Given the description of an element on the screen output the (x, y) to click on. 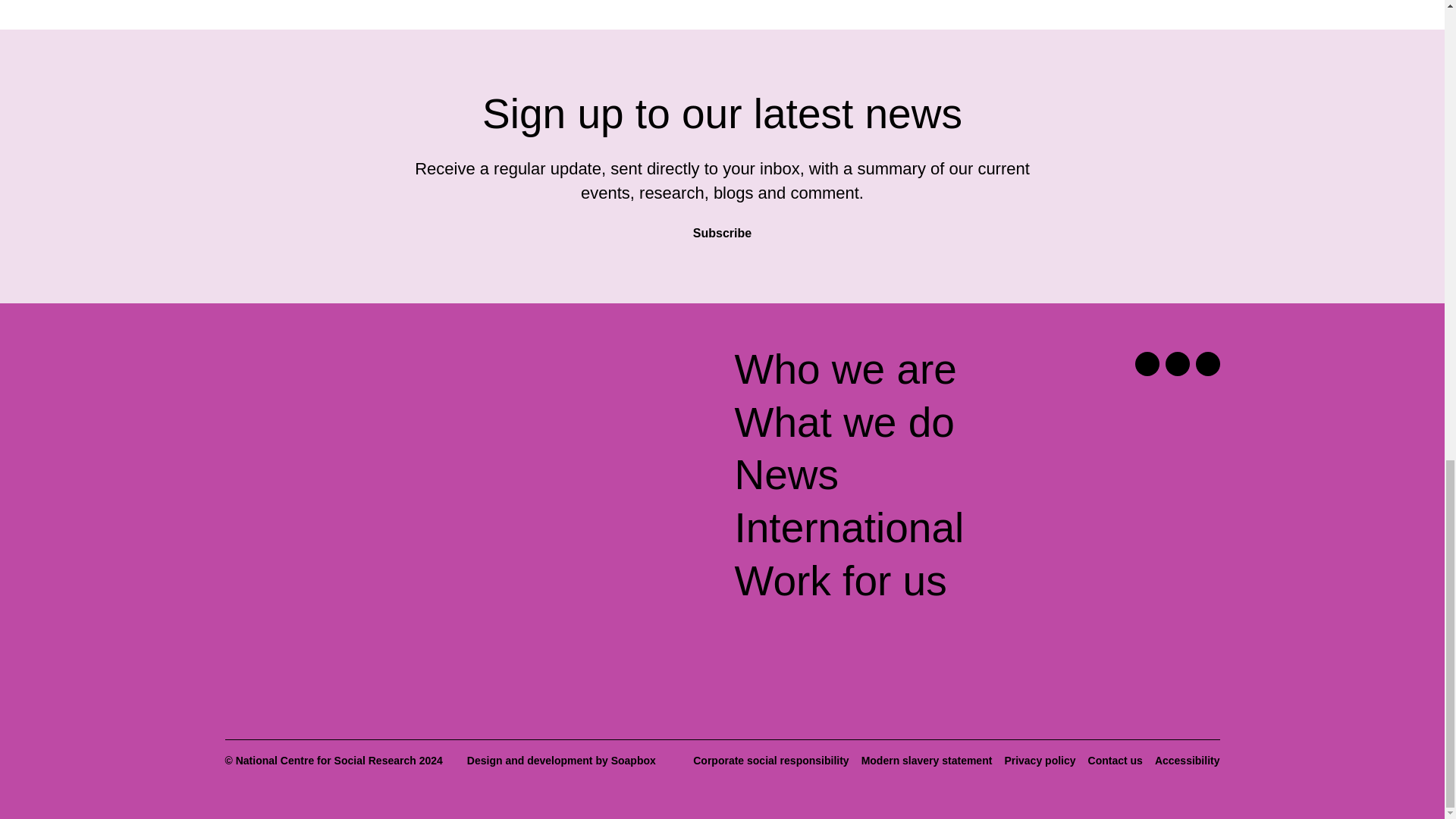
Who we are (844, 369)
What we do (843, 422)
Youtube (1207, 363)
Return to the homepage (344, 376)
Subscribe (722, 226)
Twitter (1146, 363)
Linkedin (1176, 363)
